Given the description of an element on the screen output the (x, y) to click on. 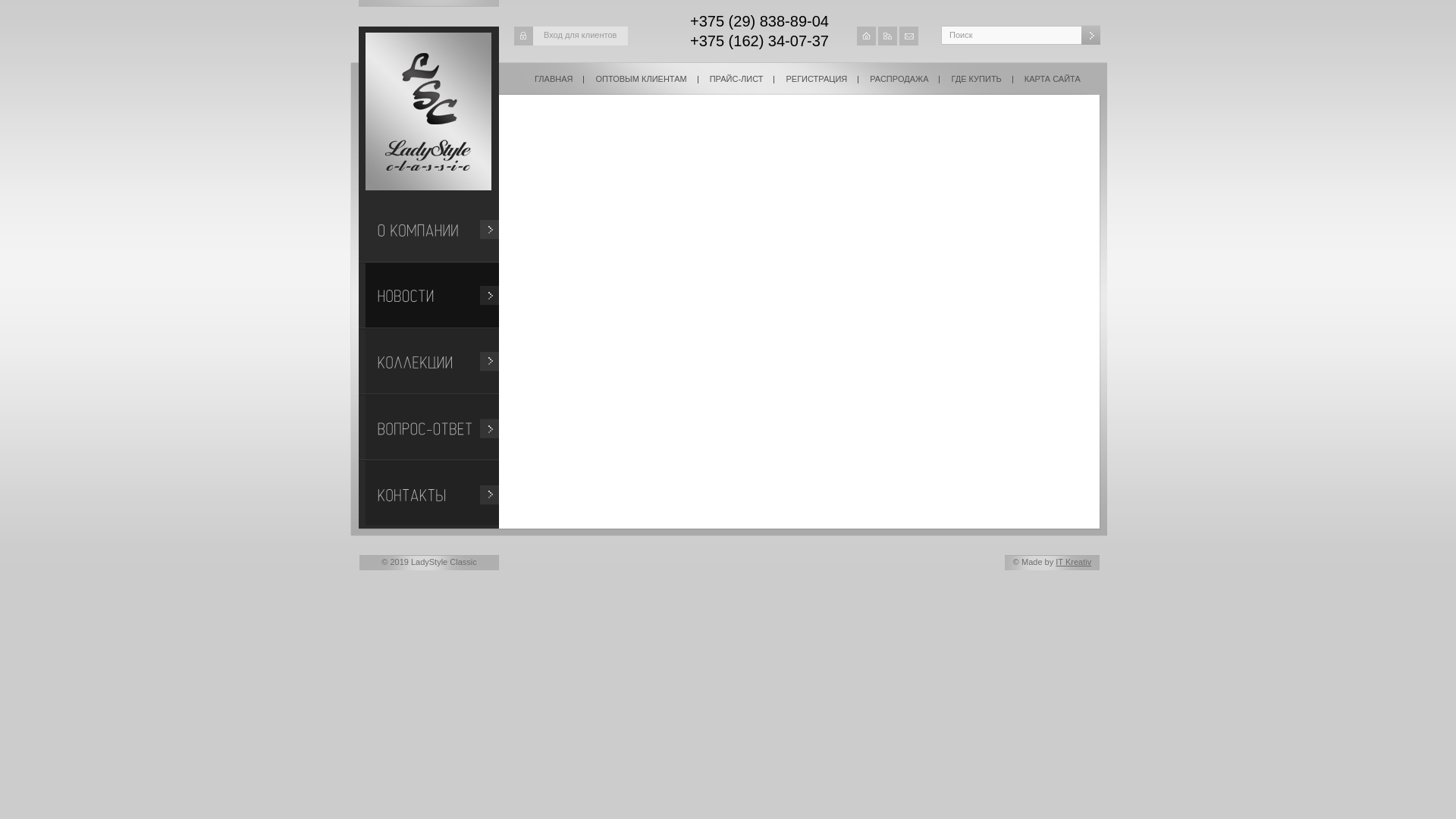
IT Kreativ Element type: text (1073, 561)
